Given the description of an element on the screen output the (x, y) to click on. 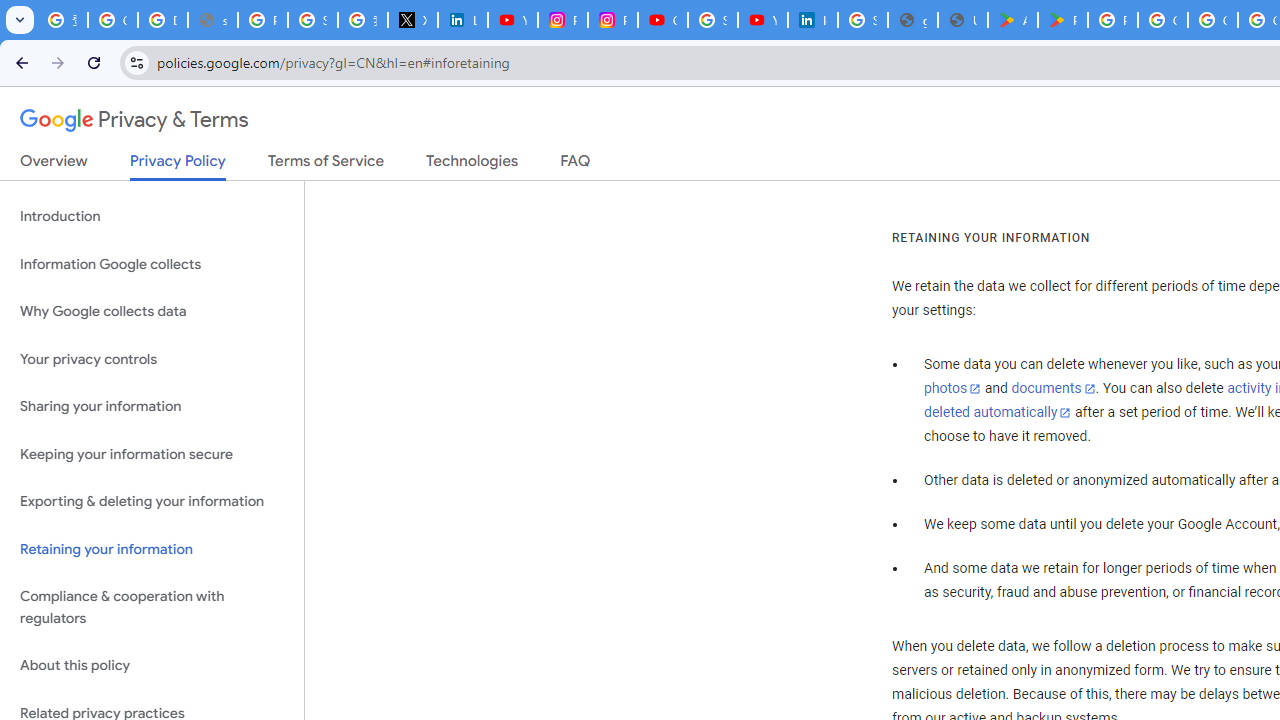
support.google.com - Network error (213, 20)
PAW Patrol Rescue World - Apps on Google Play (1062, 20)
Google Workspace - Specific Terms (1212, 20)
Sign in - Google Accounts (712, 20)
Android Apps on Google Play (1013, 20)
photos (952, 389)
